Given the description of an element on the screen output the (x, y) to click on. 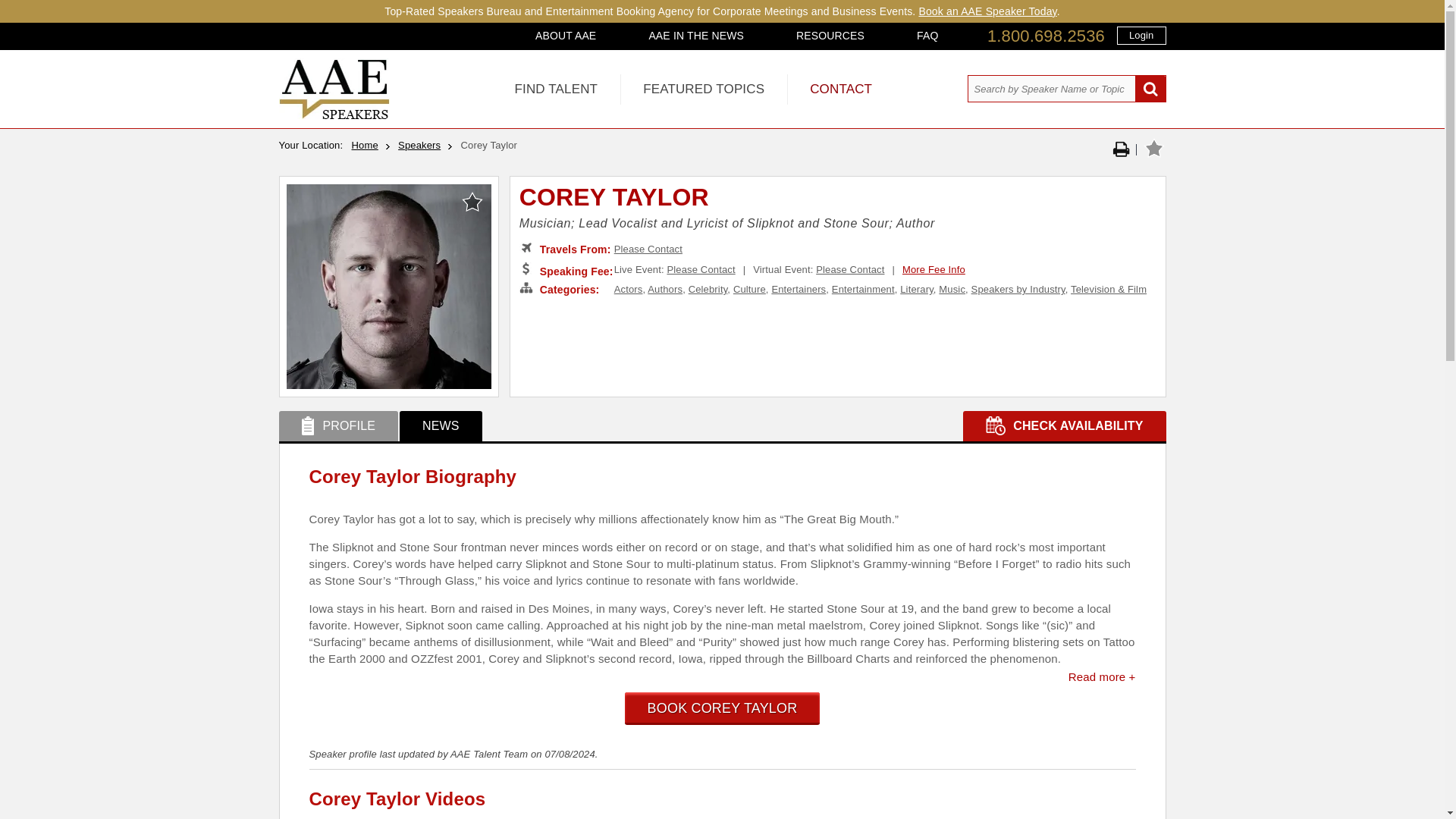
FAQ (927, 34)
Login (1141, 35)
All American Speakers Bureau and Celebrity Booking Agency (334, 115)
RESOURCES (829, 34)
Book an AAE Speaker Today (987, 10)
1.800.698.2536 (1046, 35)
Search (1150, 89)
ABOUT AAE (565, 34)
AAE IN THE NEWS (695, 34)
